Given the description of an element on the screen output the (x, y) to click on. 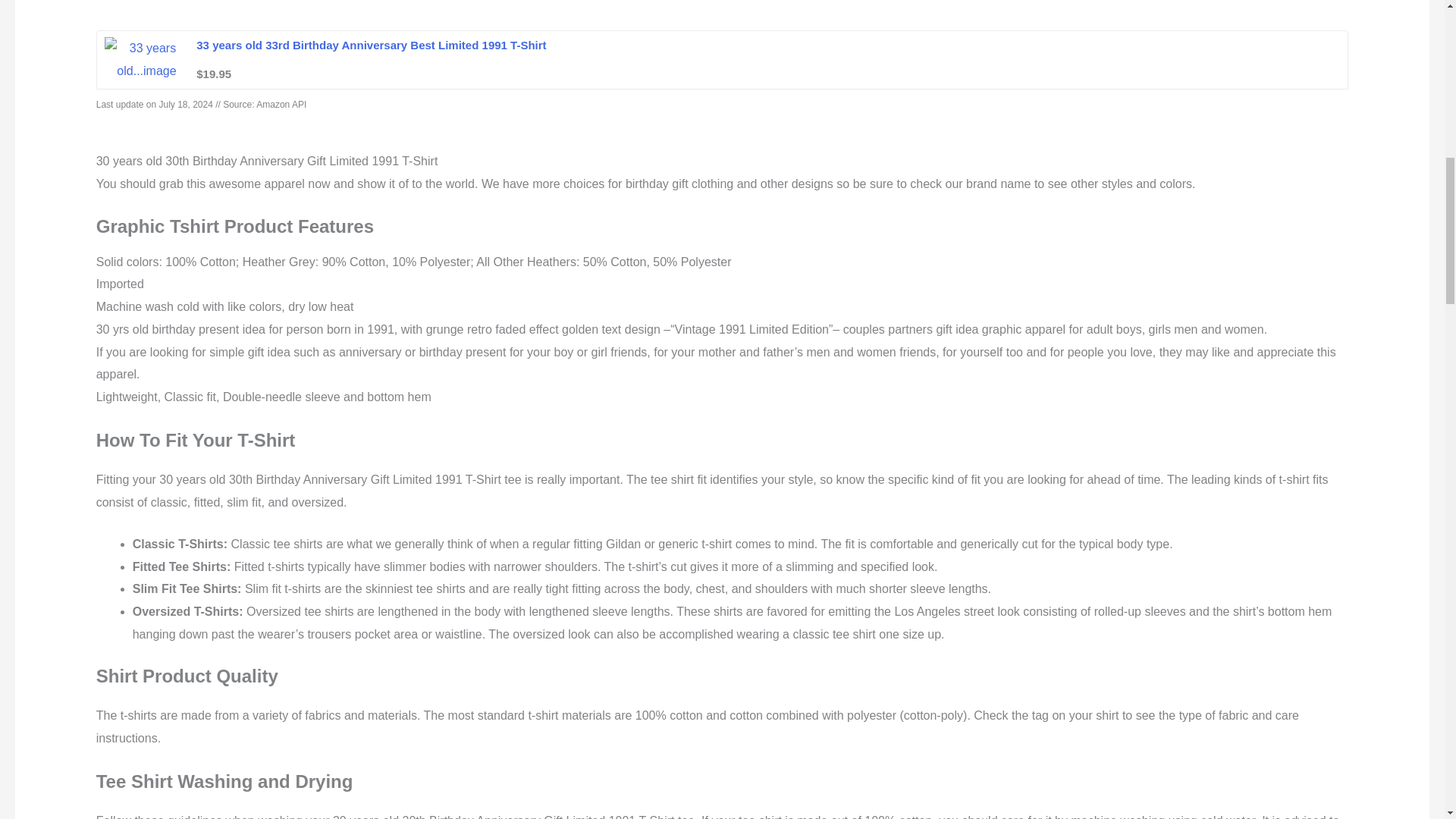
Additional information (239, 5)
T-Shirt Sizing (354, 5)
Description (129, 5)
